Given the description of an element on the screen output the (x, y) to click on. 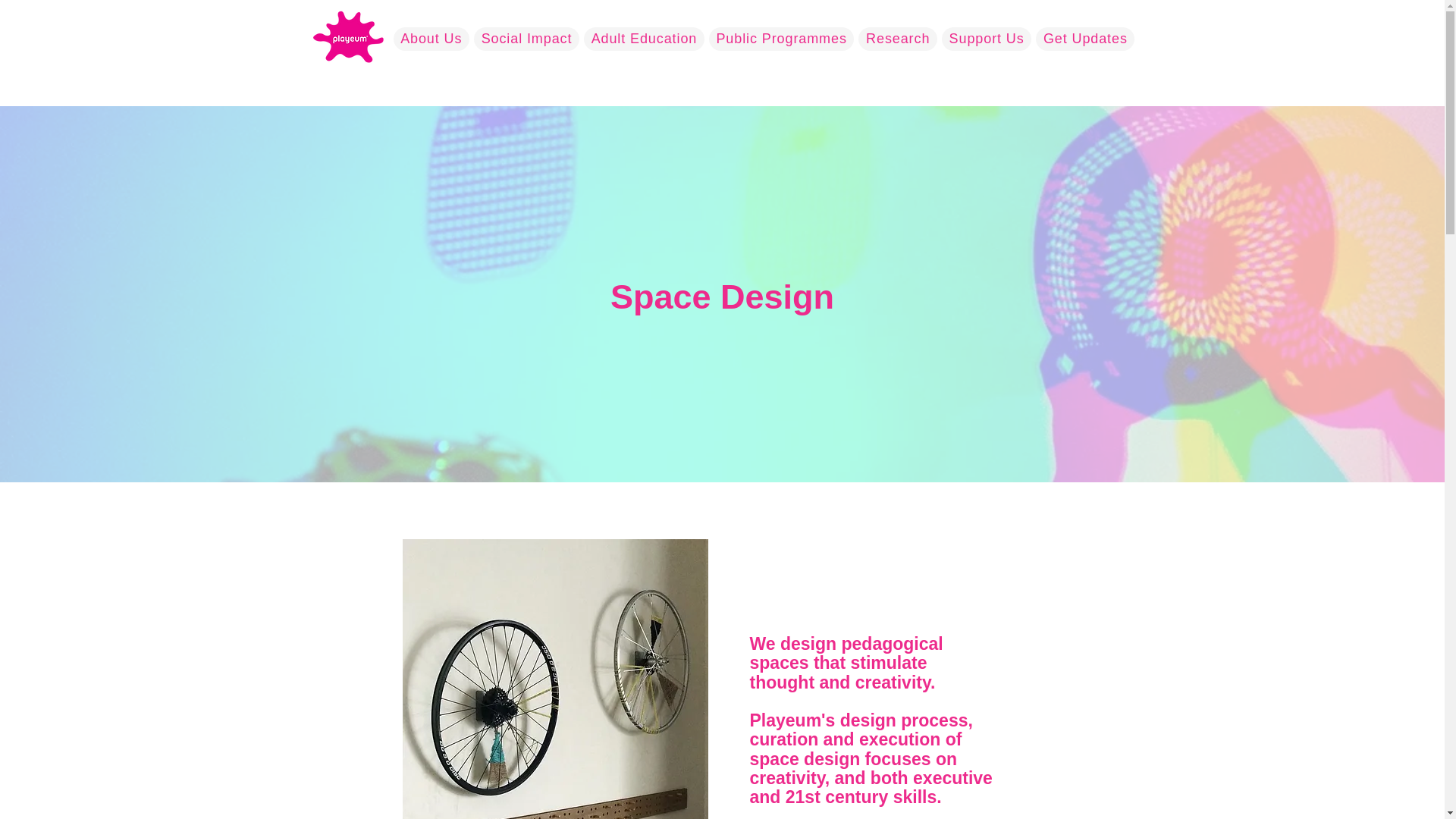
Public Programmes (781, 38)
Get Updates (1084, 38)
About Us (430, 38)
Social Impact (526, 38)
Adult Education (643, 38)
Research (898, 38)
Support Us (986, 38)
